Given the description of an element on the screen output the (x, y) to click on. 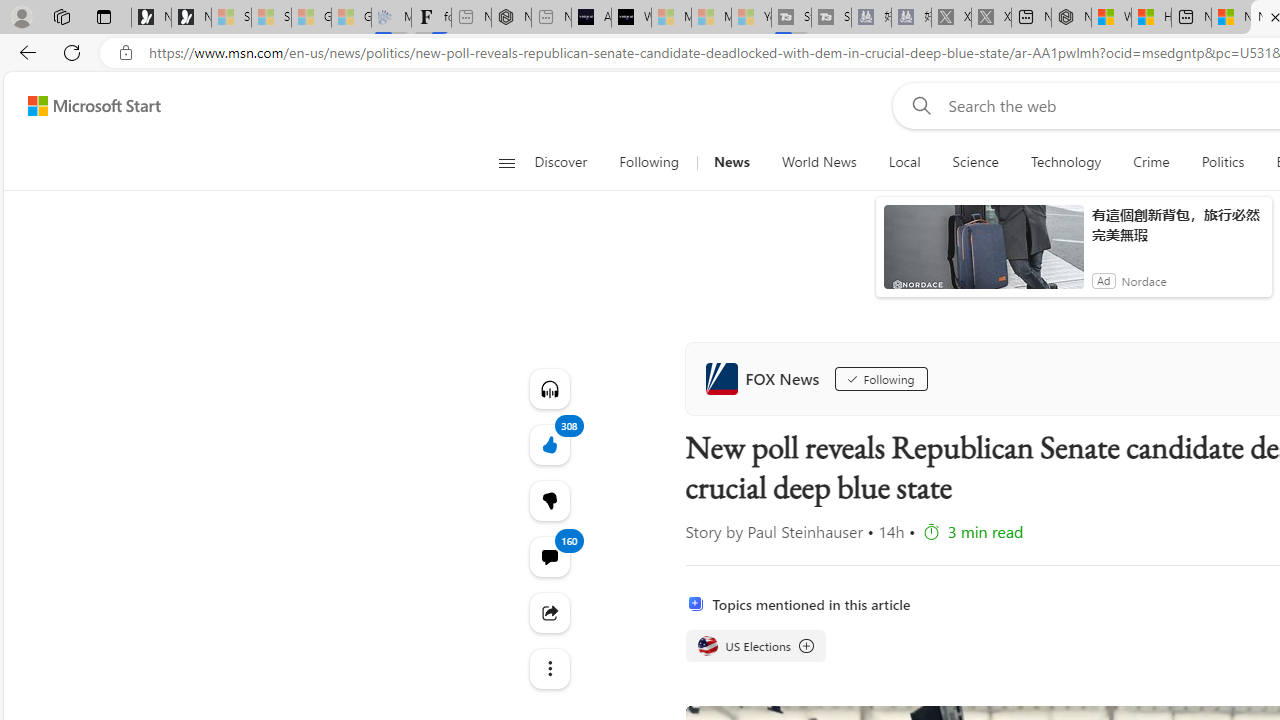
Politics (1222, 162)
Share this story (548, 612)
Open navigation menu (506, 162)
Skip to footer (82, 105)
Nordace - #1 Japanese Best-Seller - Siena Smart Backpack (511, 17)
Listen to this article (548, 388)
Crime (1150, 162)
